Given the description of an element on the screen output the (x, y) to click on. 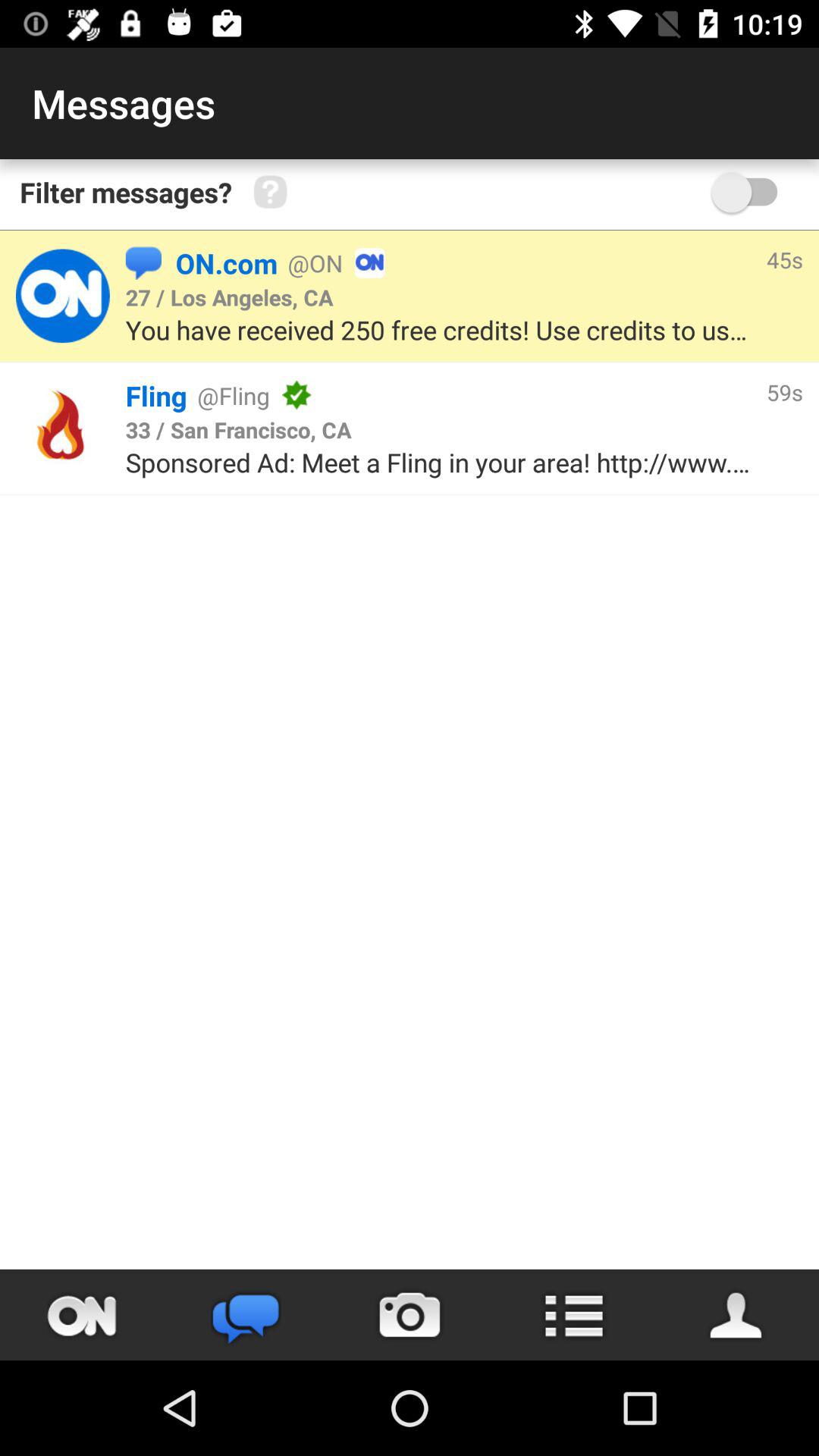
turn on the icon above the fling (441, 329)
